Given the description of an element on the screen output the (x, y) to click on. 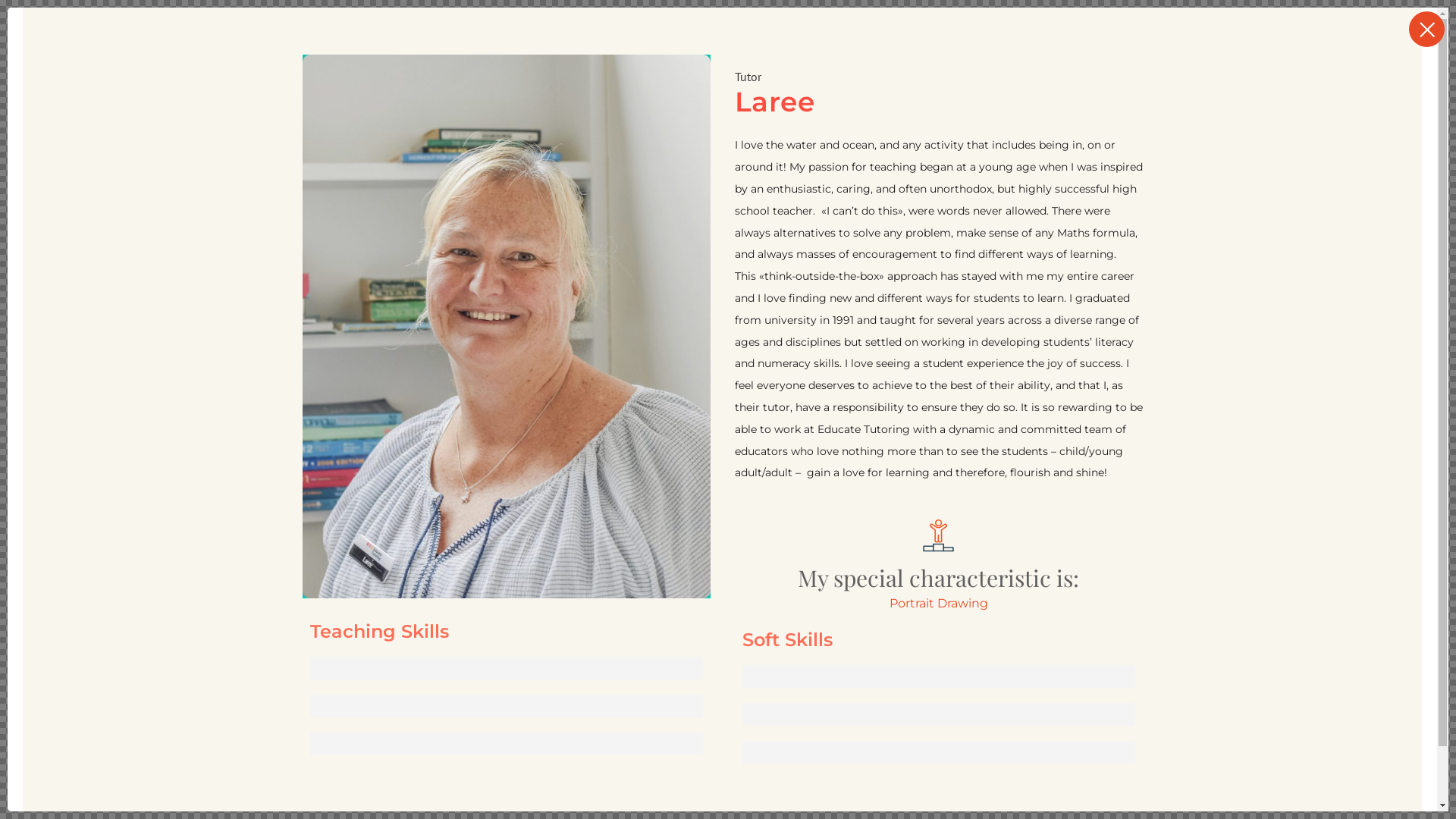
Cliengo Widget Element type: hover (1349, 778)
